Given the description of an element on the screen output the (x, y) to click on. 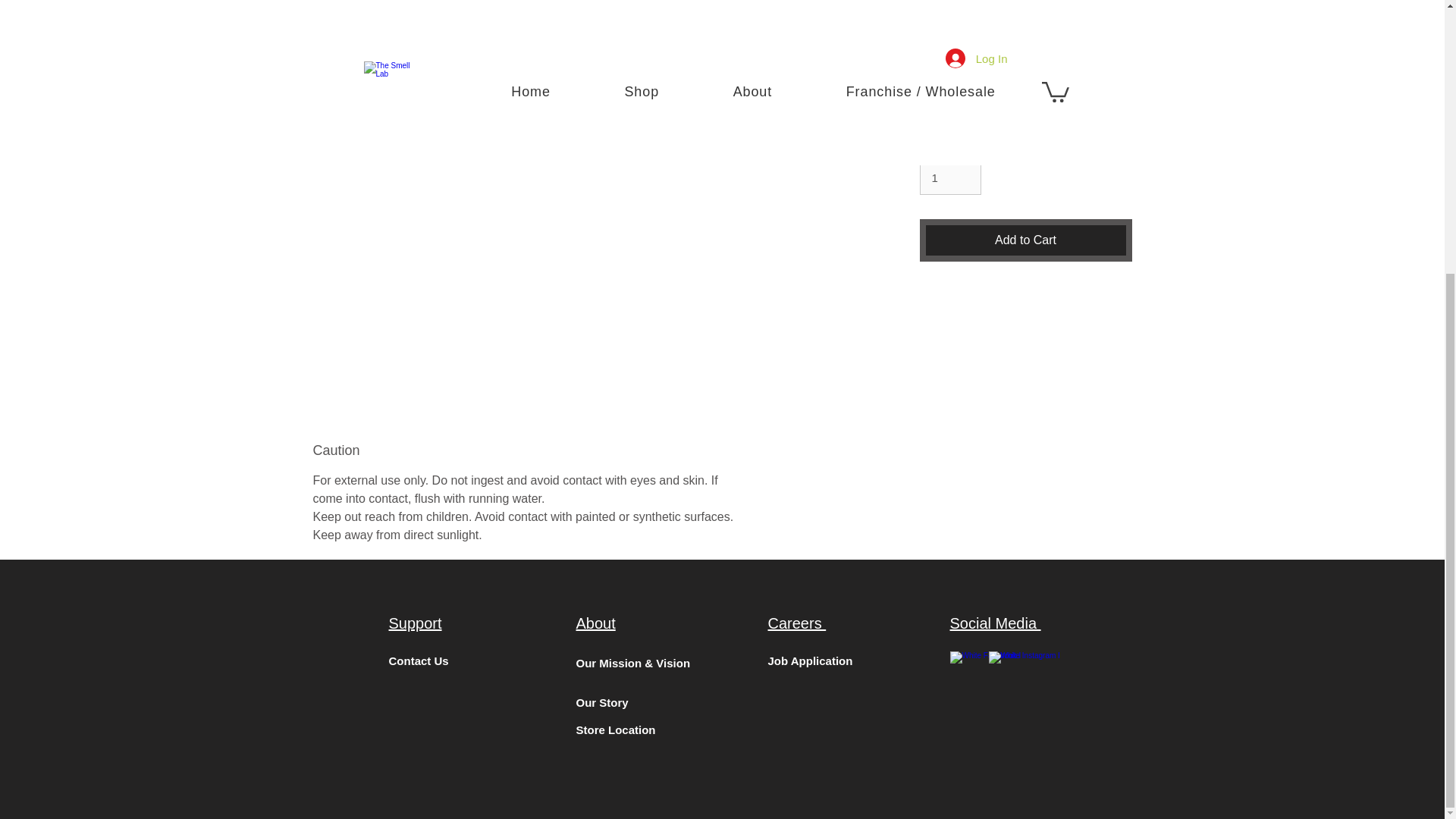
Our Story (602, 702)
1 (949, 177)
Job Application (809, 660)
Store Location (616, 729)
Contact Us  (419, 660)
Add to Cart (1024, 240)
